Given the description of an element on the screen output the (x, y) to click on. 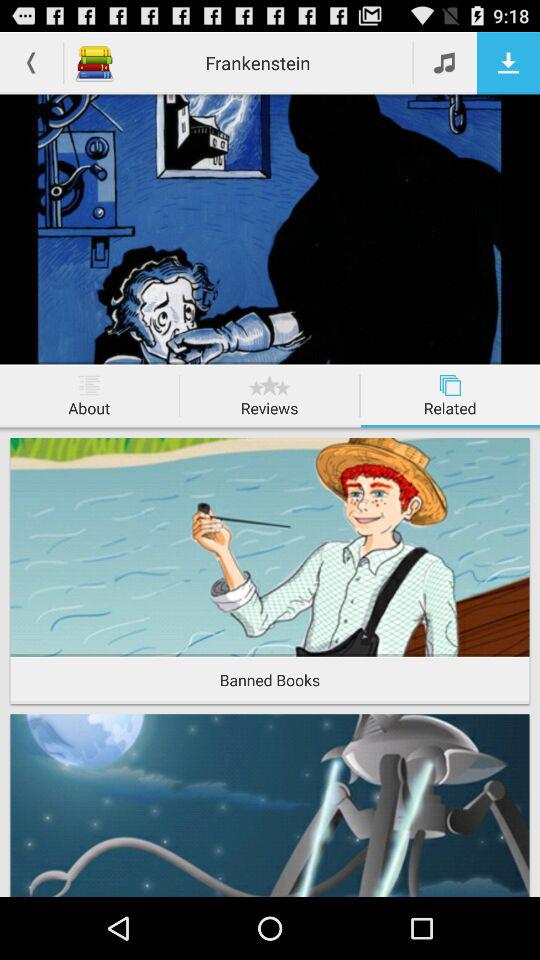
go back (31, 62)
